Given the description of an element on the screen output the (x, y) to click on. 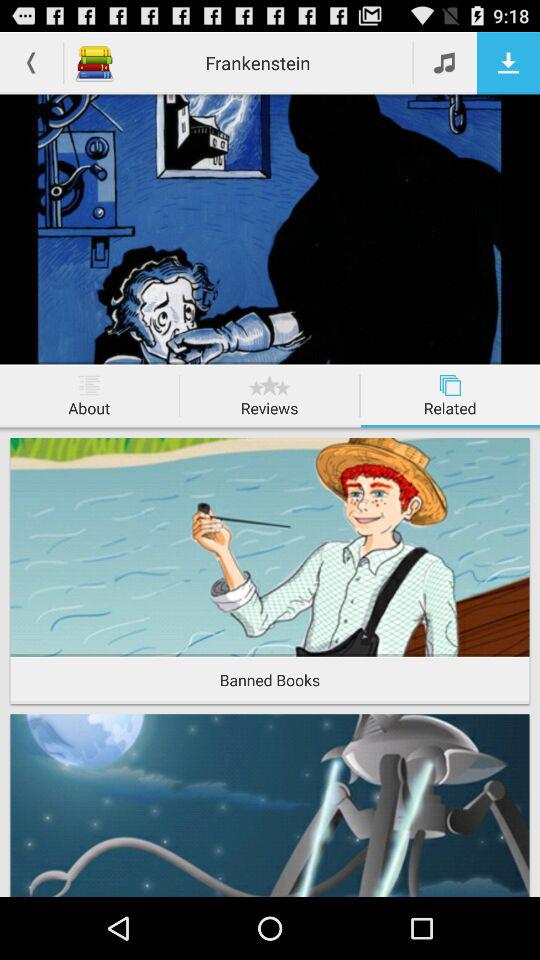
go back (31, 62)
